Given the description of an element on the screen output the (x, y) to click on. 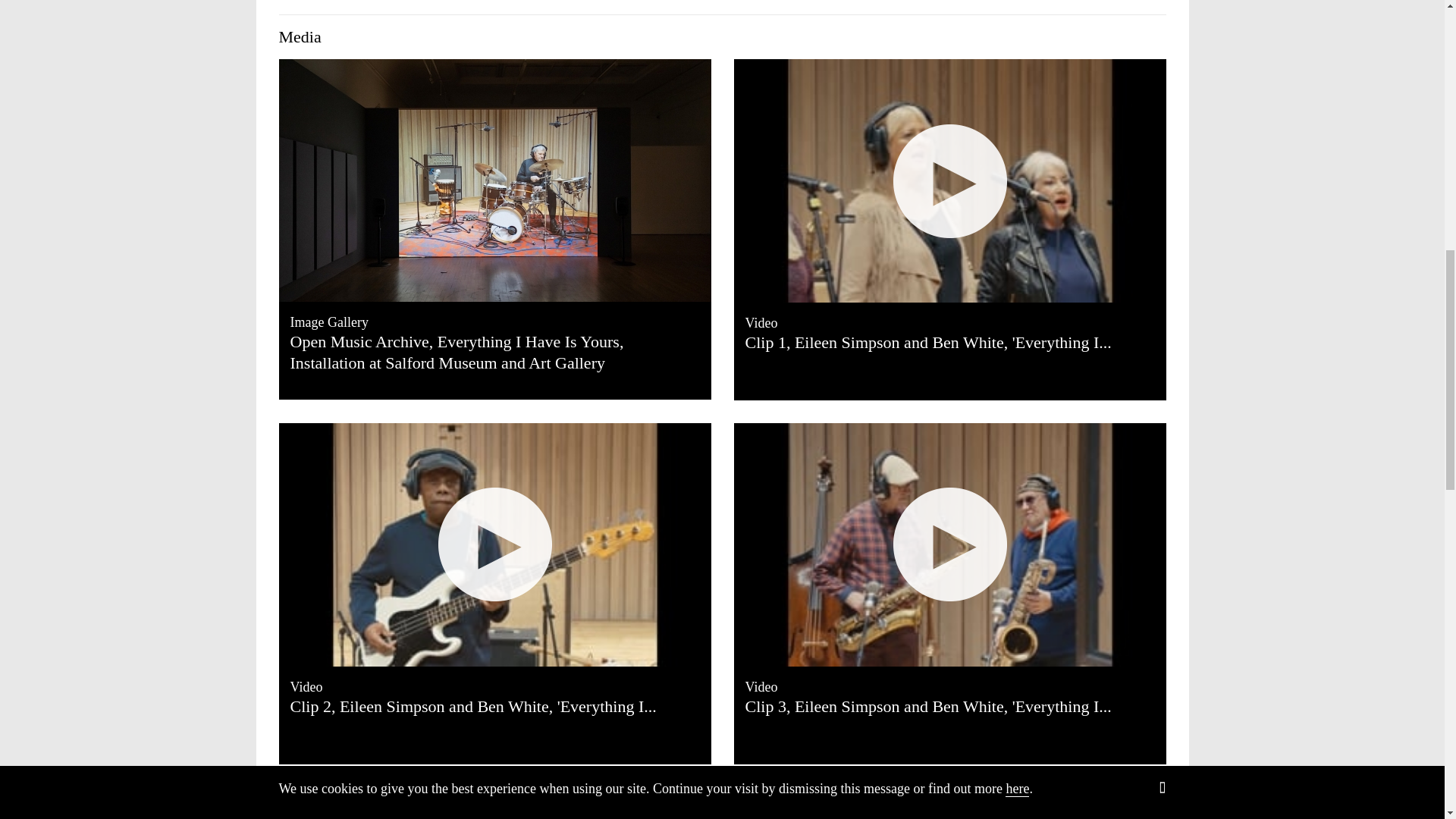
Clip 3, Eileen Simpson and Ben White, 'Everything I... (949, 706)
FVU Frames: Open Music Archive (495, 803)
Clip 1, Eileen Simpson and Ben White, 'Everything I... (949, 342)
Clip 2, Eileen Simpson and Ben White, 'Everything I... (493, 706)
Everything I Have Is Yours: Commissioned Texts (949, 803)
